Given the description of an element on the screen output the (x, y) to click on. 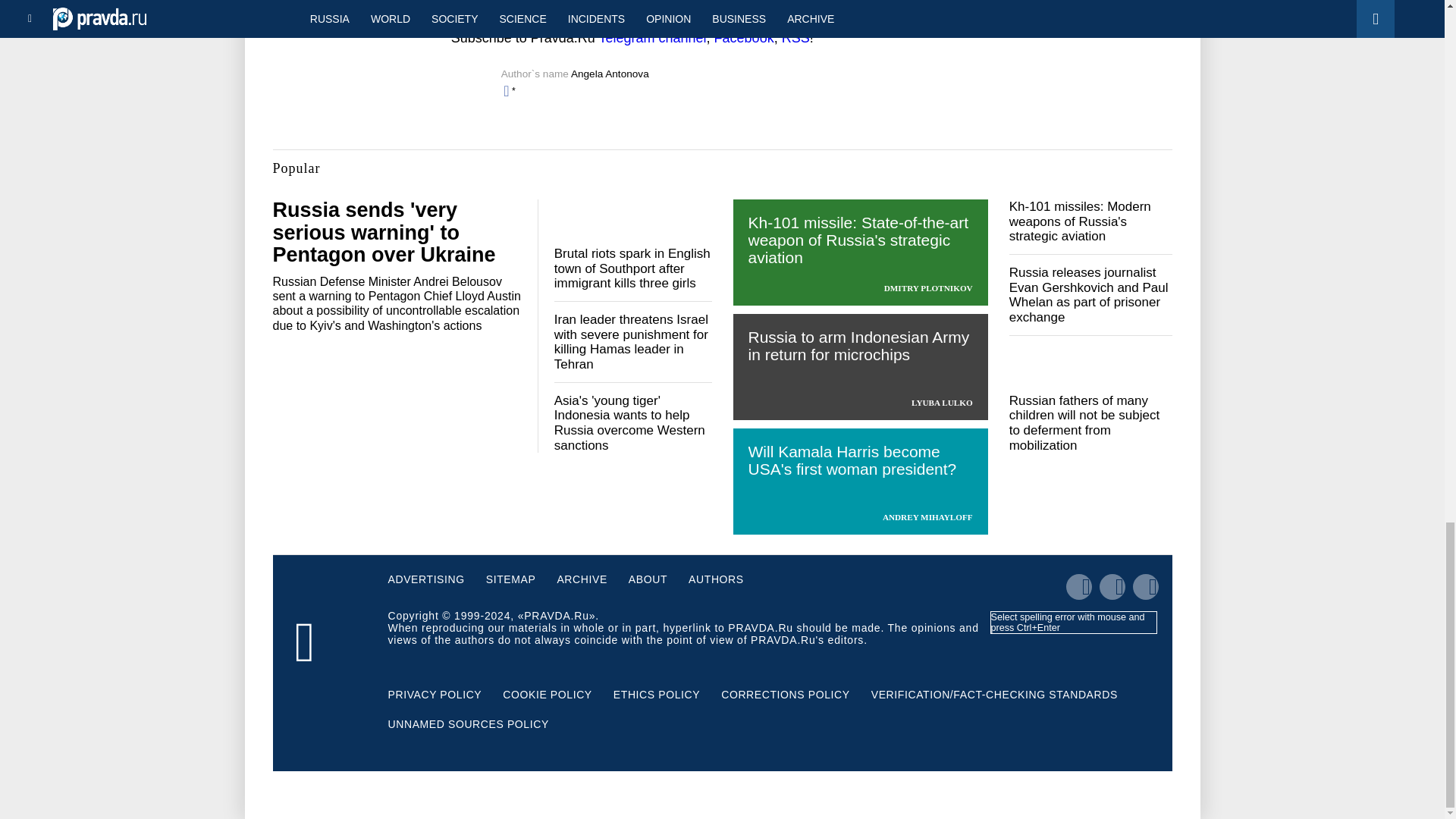
RSS (795, 37)
Facebook (744, 37)
Angela Antonova (609, 73)
Telegram channel (652, 37)
